Given the description of an element on the screen output the (x, y) to click on. 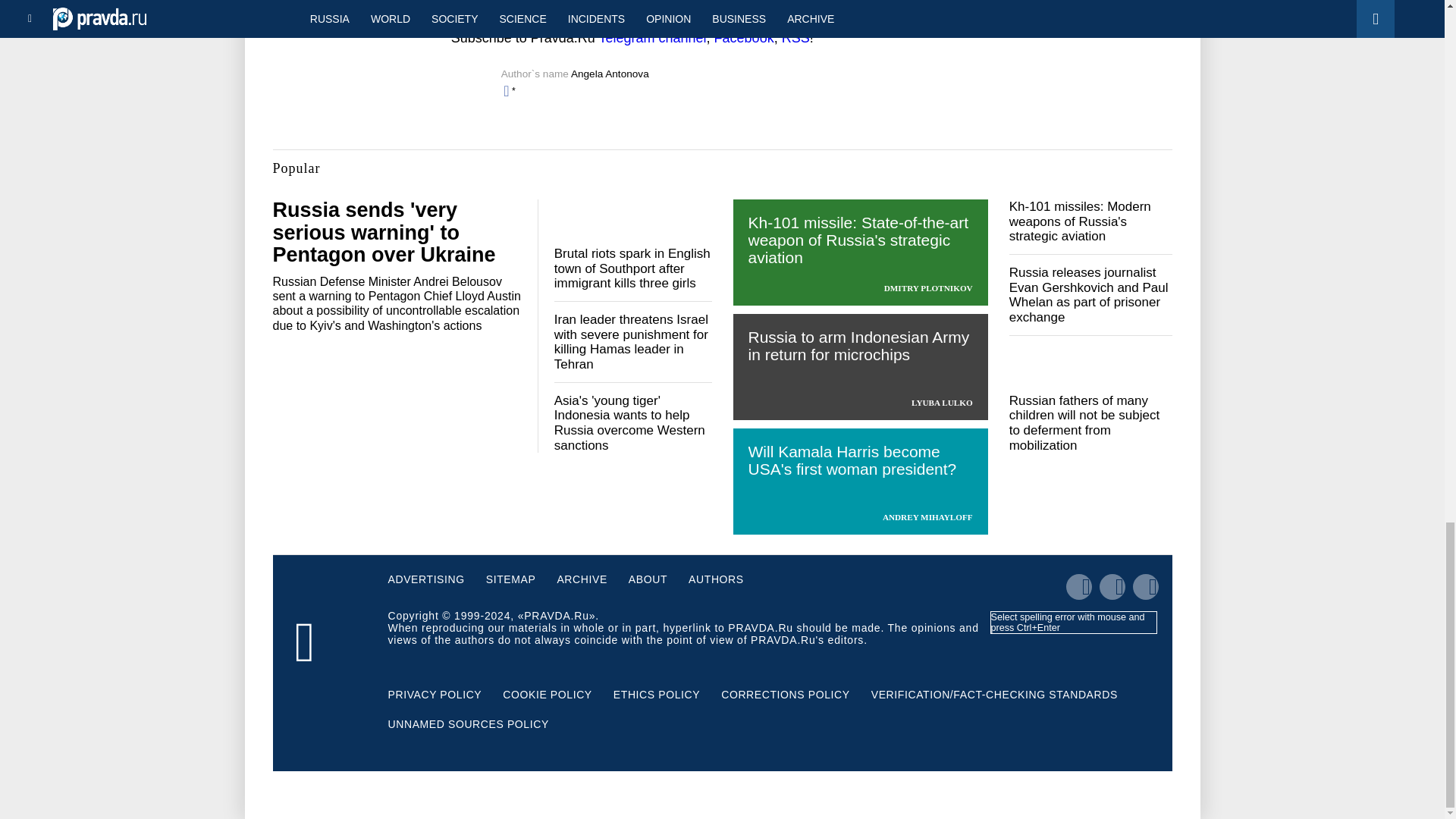
RSS (795, 37)
Facebook (744, 37)
Angela Antonova (609, 73)
Telegram channel (652, 37)
